Given the description of an element on the screen output the (x, y) to click on. 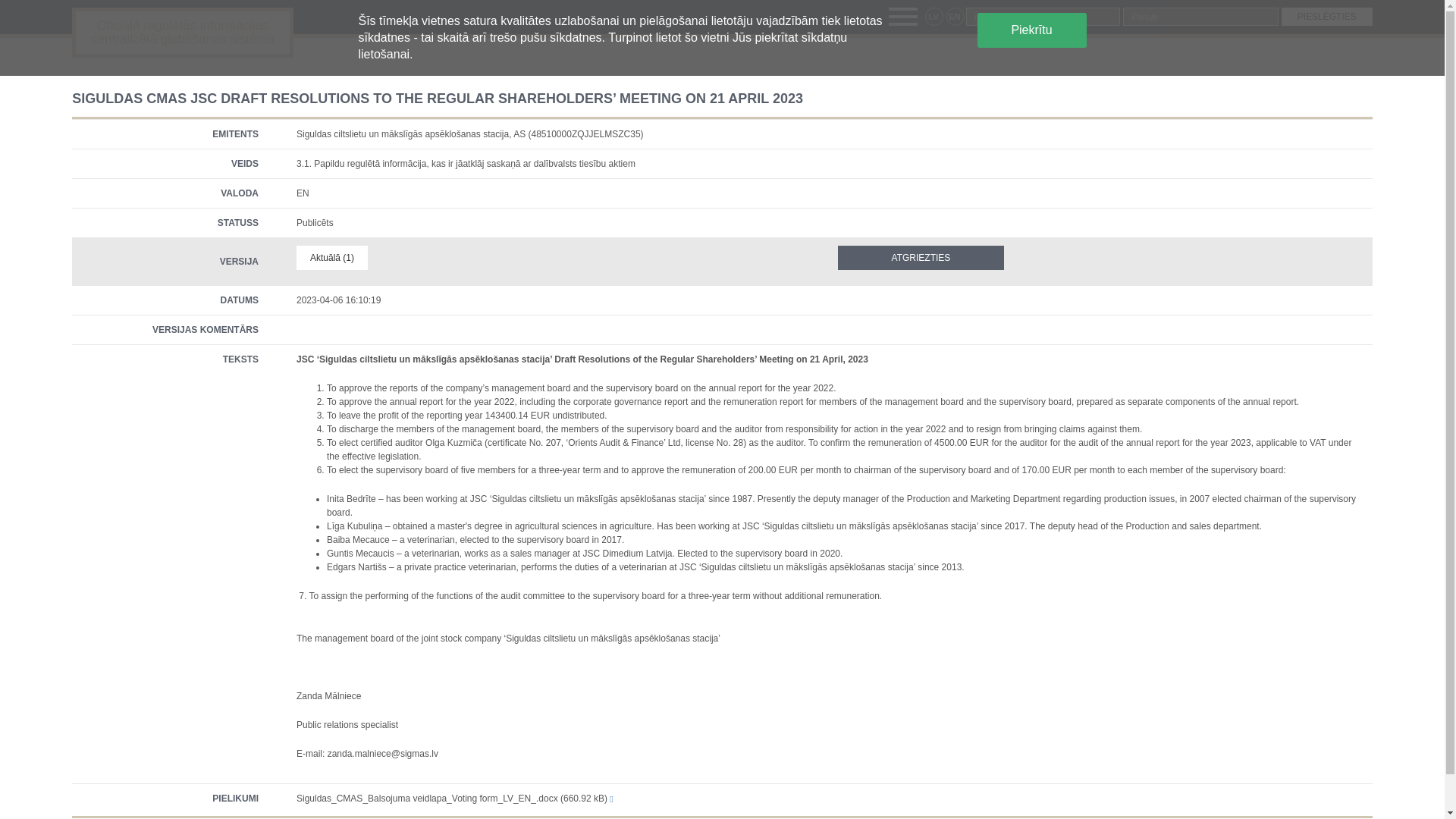
Menu (902, 16)
LV (933, 16)
Atgriezties (920, 257)
EN (954, 16)
Atgriezties (920, 257)
